Given the description of an element on the screen output the (x, y) to click on. 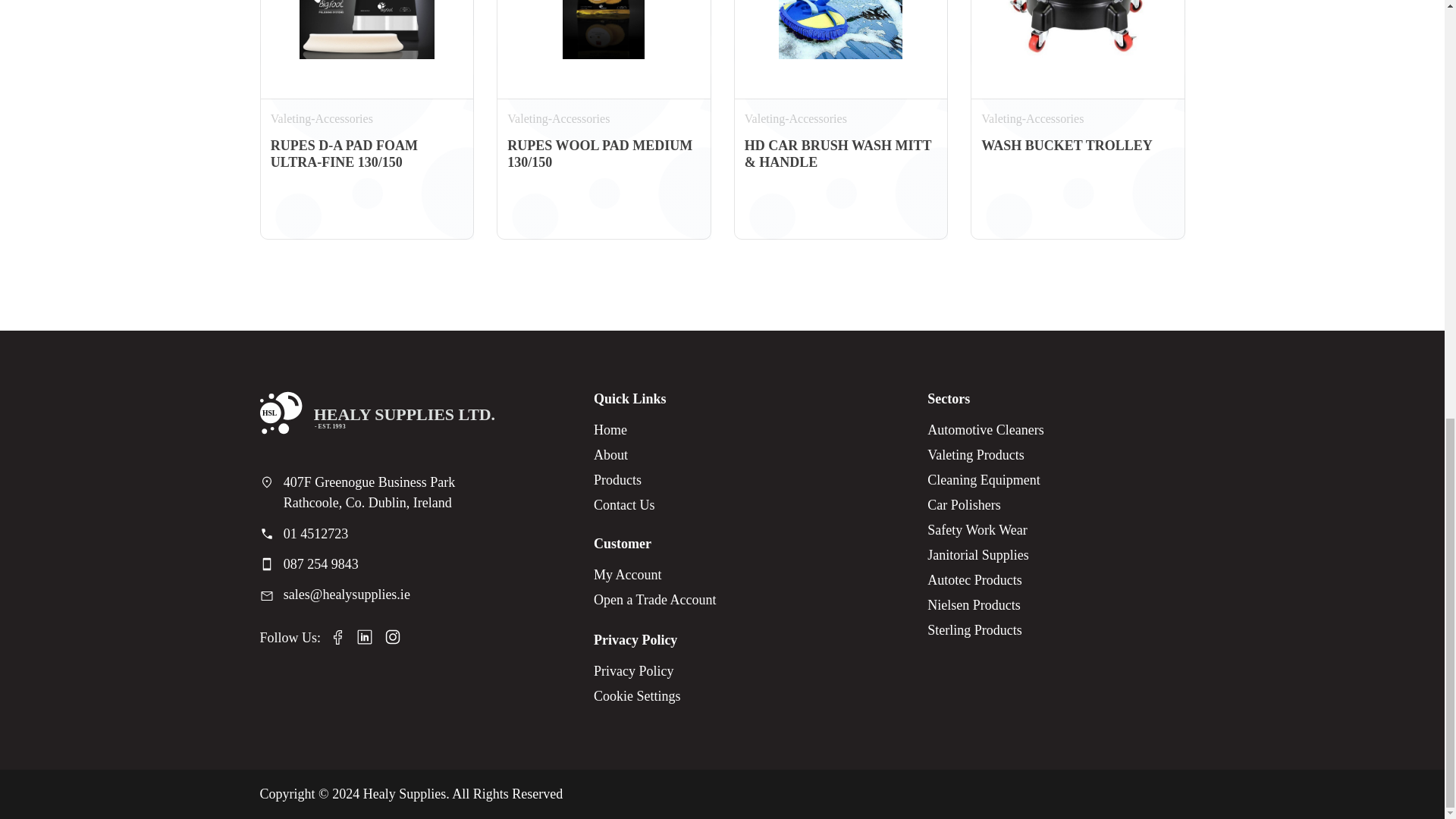
Home (624, 430)
Open a Trade Account (655, 600)
Automotive Cleaners (985, 430)
Products (624, 480)
About (624, 455)
Cookie Settings (637, 696)
My Account (655, 575)
Contact Us (624, 505)
Valeting Products (985, 455)
Privacy Policy (637, 671)
